Given the description of an element on the screen output the (x, y) to click on. 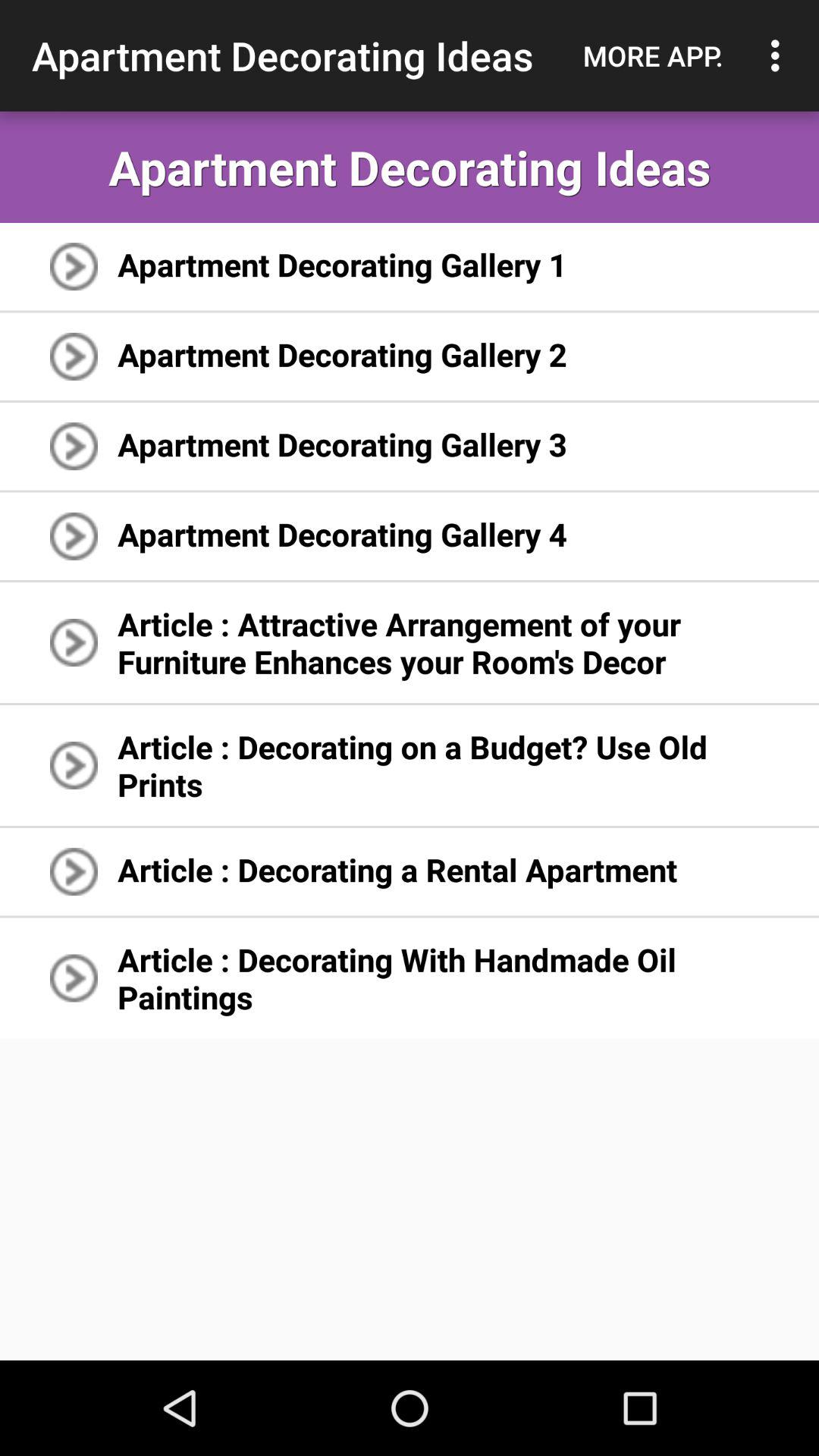
turn on the icon to the right of more app. icon (779, 55)
